Given the description of an element on the screen output the (x, y) to click on. 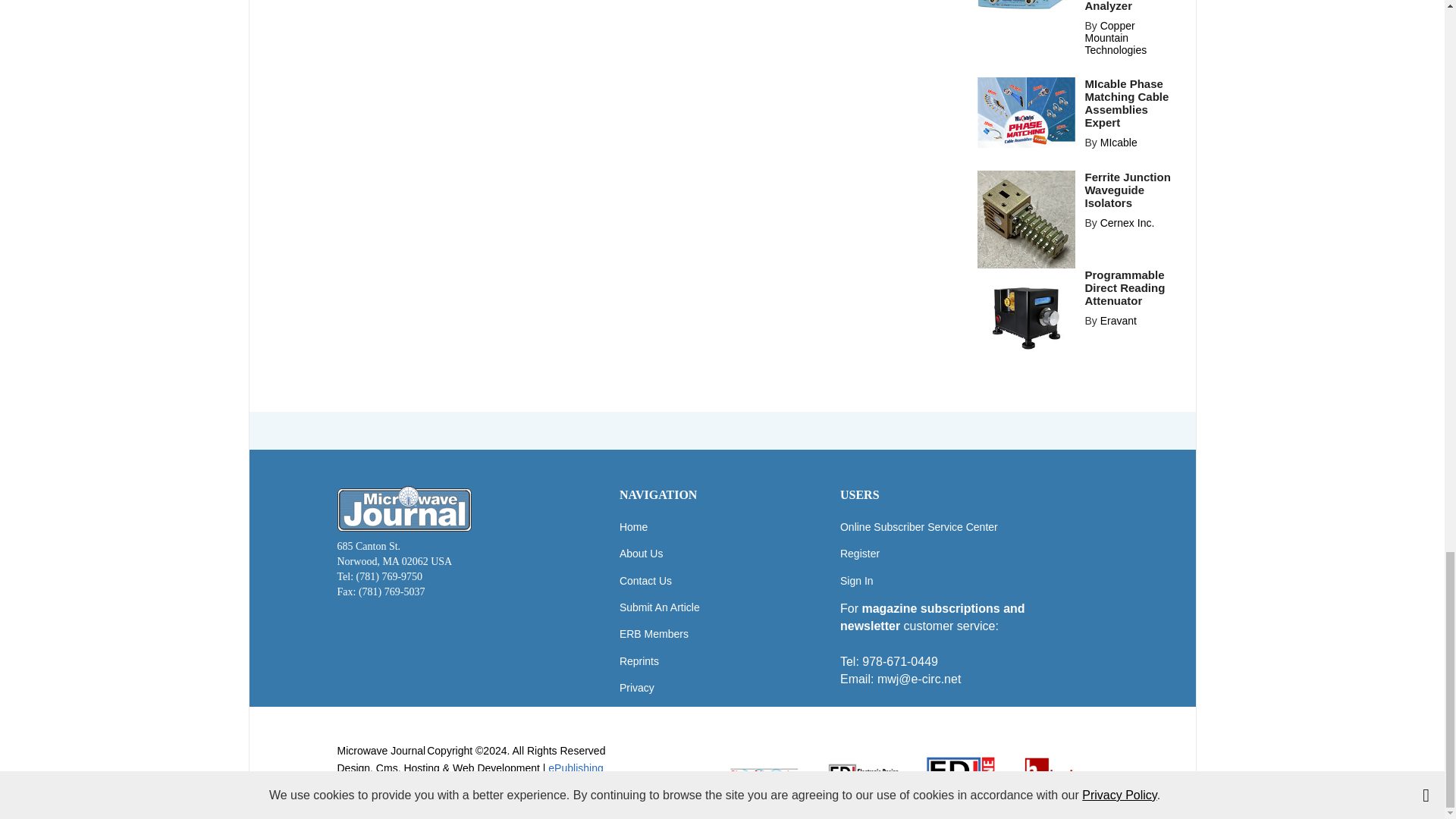
SC7540 Image -left.jpg (1025, 5)
Eravant.jpg (1025, 317)
MIcable Phase Matching Cable Assemblies Expert.jpg (1025, 112)
CJI26400416-01 Pict 200x200.jpg (1025, 219)
